Given the description of an element on the screen output the (x, y) to click on. 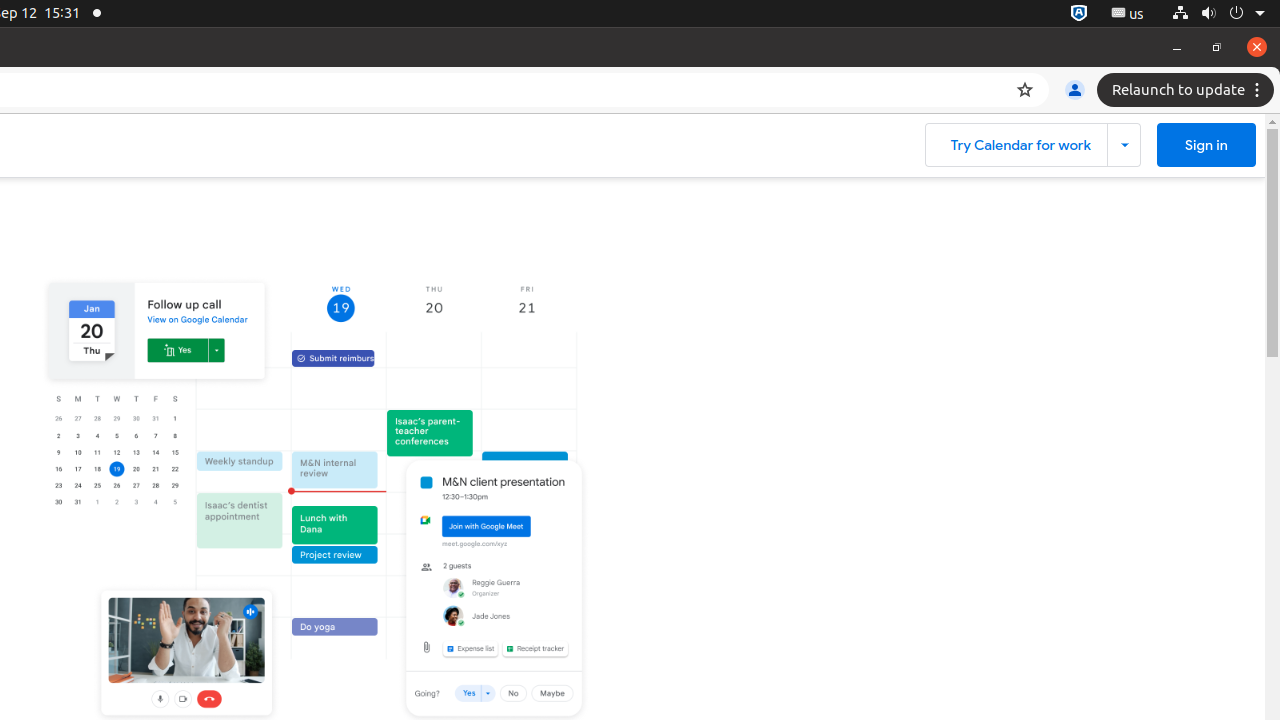
You Element type: push-button (1075, 90)
Bookmark this tab Element type: push-button (1025, 90)
